Given the description of an element on the screen output the (x, y) to click on. 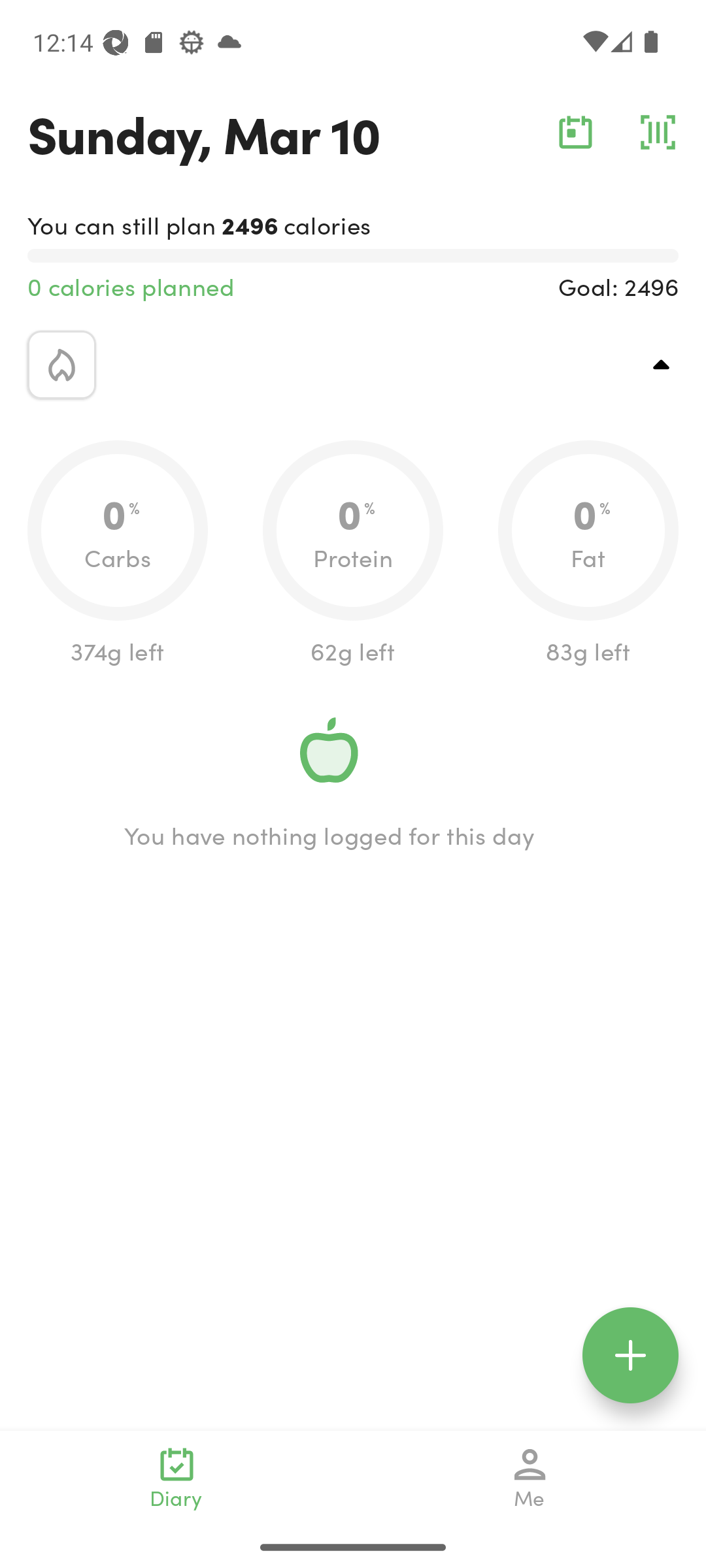
calendar_action (575, 132)
barcode_action (658, 132)
calorie_icon (62, 365)
top_right_action (661, 365)
0.0 0 % Carbs 374g left (117, 553)
0.0 0 % Protein 62g left (352, 553)
0.0 0 % Fat 83g left (588, 553)
floating_action_icon (630, 1355)
Me navigation_icon (529, 1478)
